Given the description of an element on the screen output the (x, y) to click on. 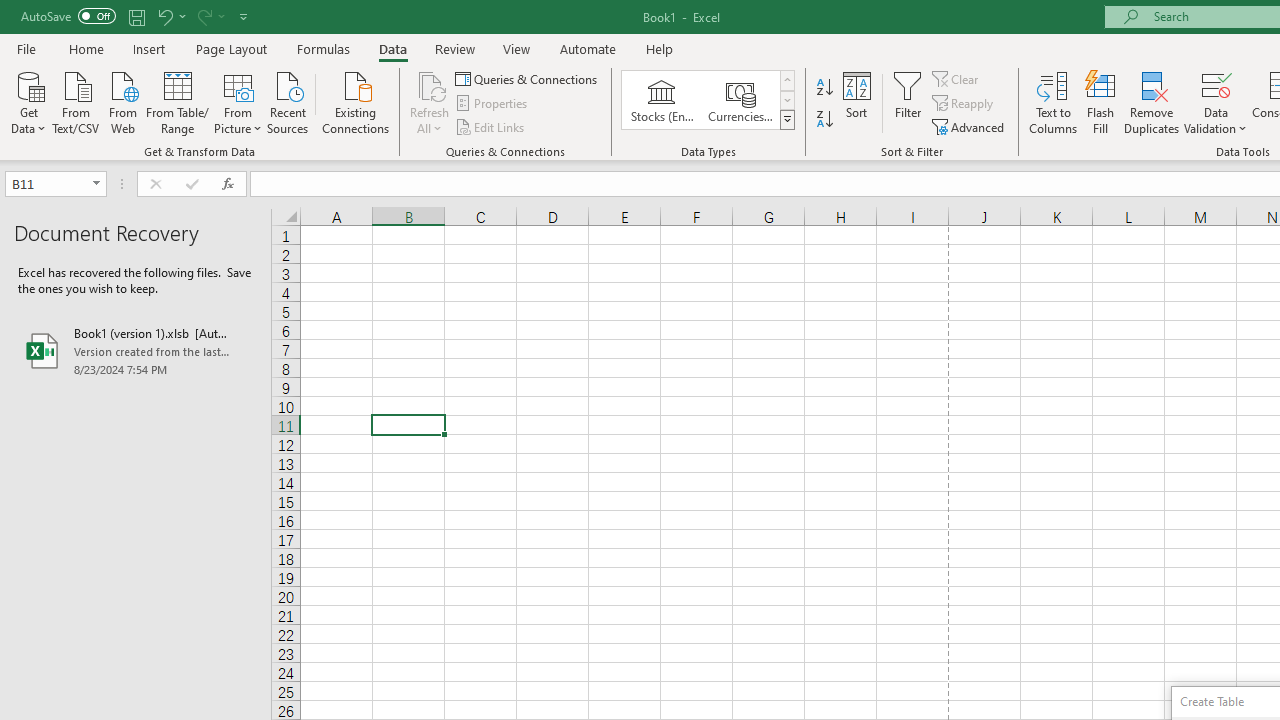
Text to Columns... (1053, 102)
Flash Fill (1101, 102)
From Web (122, 101)
Edit Links (491, 126)
